Given the description of an element on the screen output the (x, y) to click on. 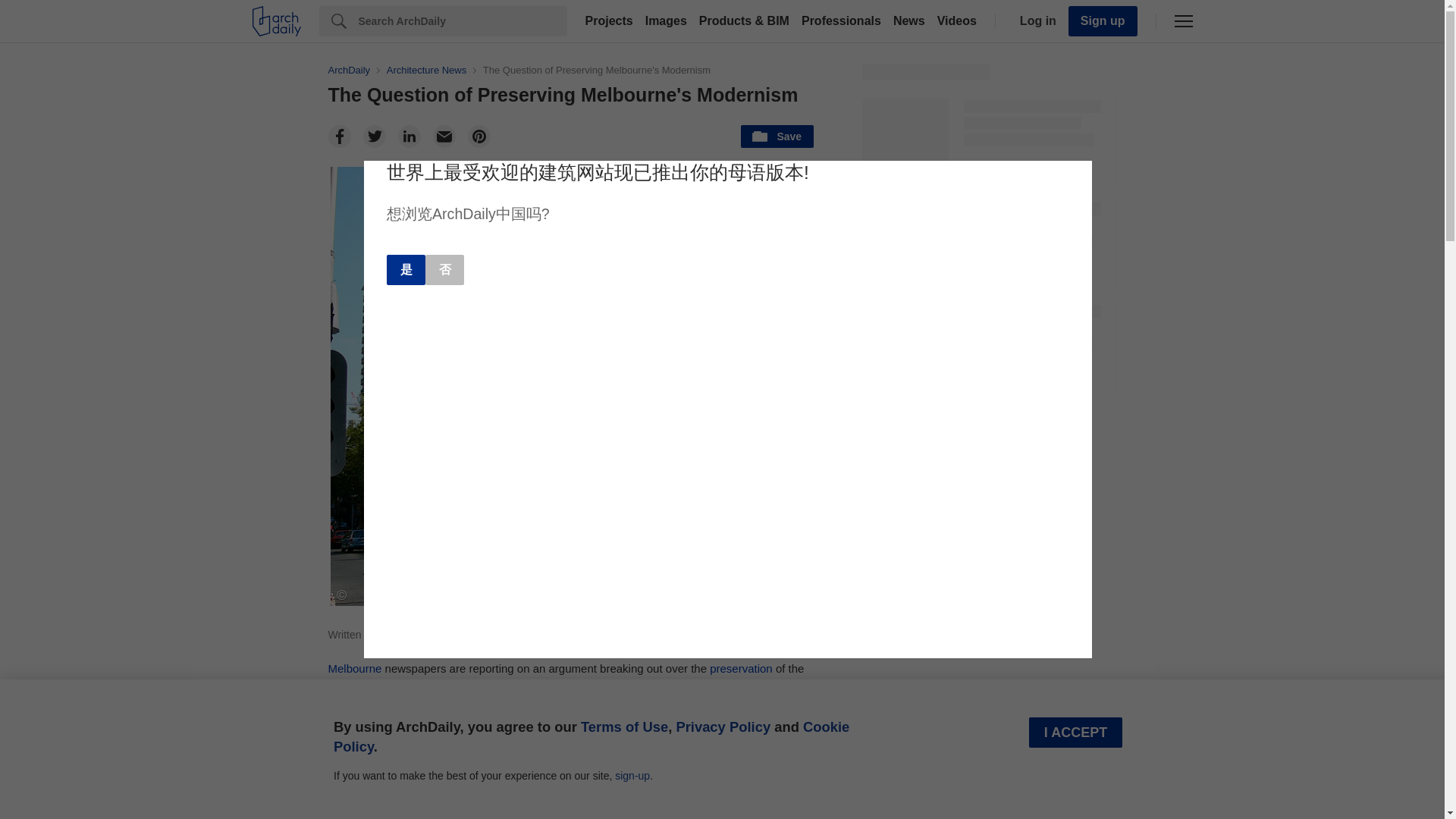
Log in (1035, 20)
News (908, 21)
Professionals (840, 21)
Images (666, 21)
Videos (956, 21)
Sign up (1102, 20)
Projects (609, 21)
